Given the description of an element on the screen output the (x, y) to click on. 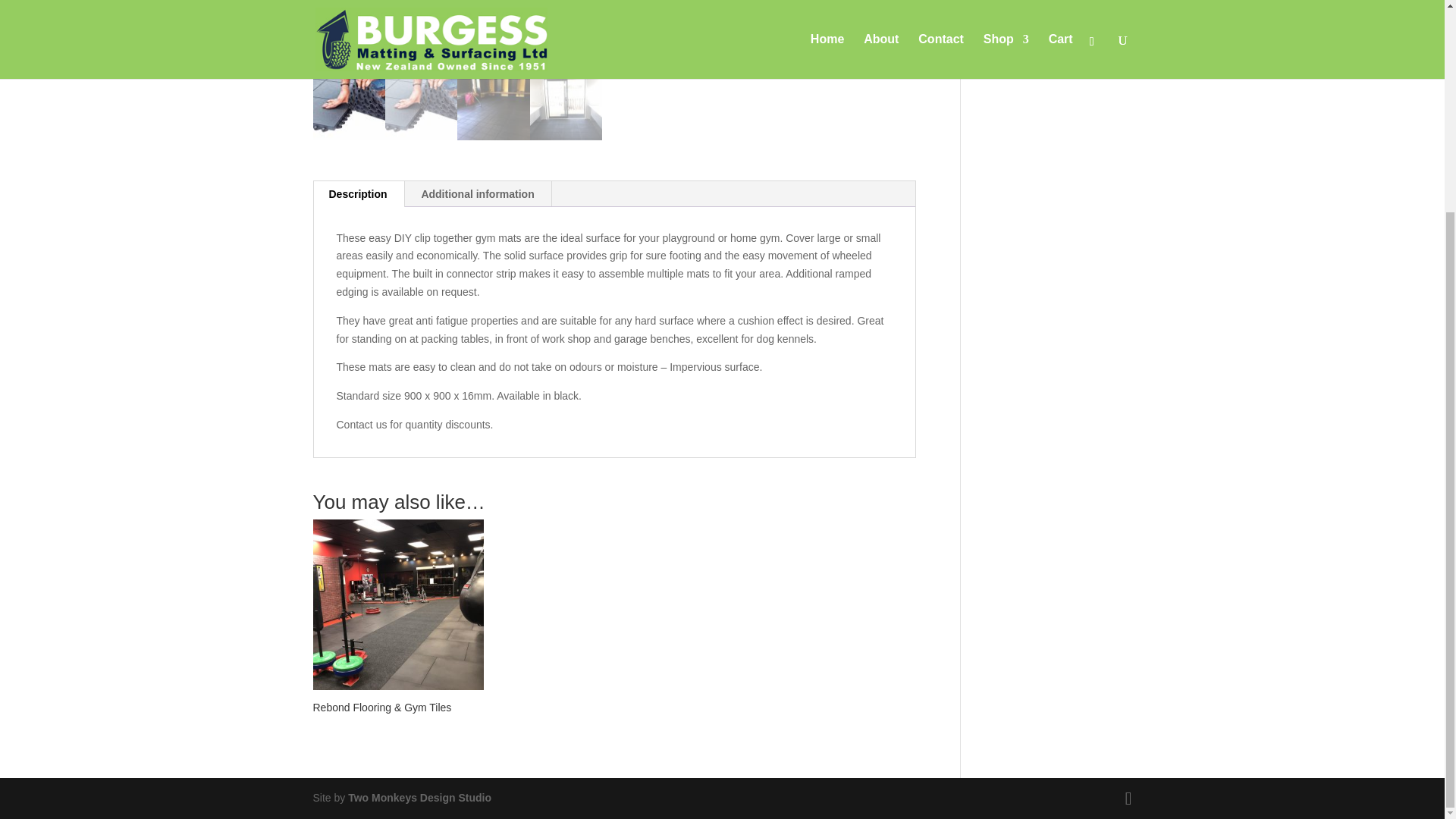
Solid top -FHG 02 (457, 33)
Description (358, 193)
